Given the description of an element on the screen output the (x, y) to click on. 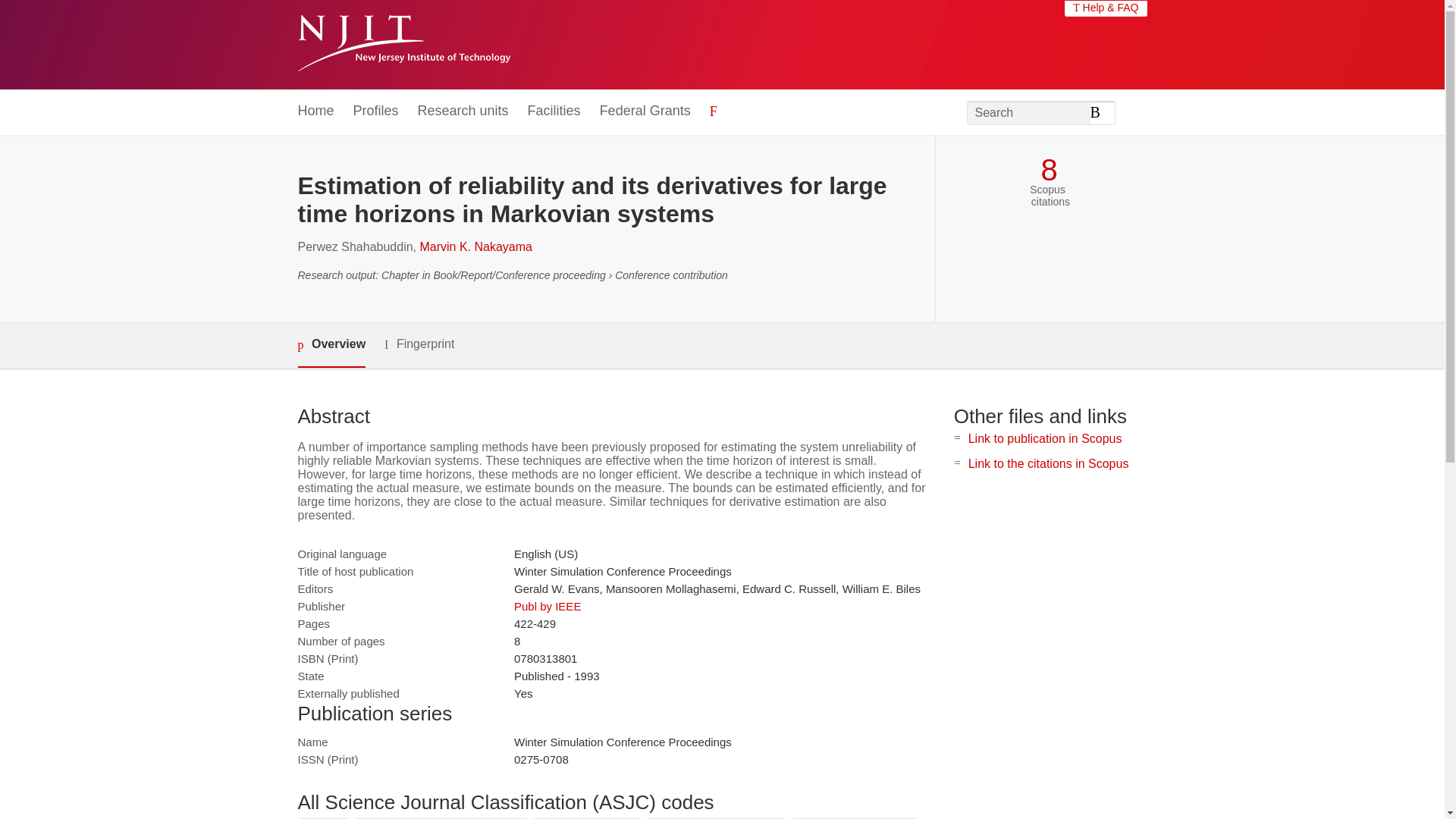
Federal Grants (644, 111)
Publ by IEEE (546, 605)
Marvin K. Nakayama (476, 246)
Research units (462, 111)
Profiles (375, 111)
Link to the citations in Scopus (1048, 463)
Overview (331, 344)
Fingerprint (419, 344)
Link to publication in Scopus (1045, 438)
